Given the description of an element on the screen output the (x, y) to click on. 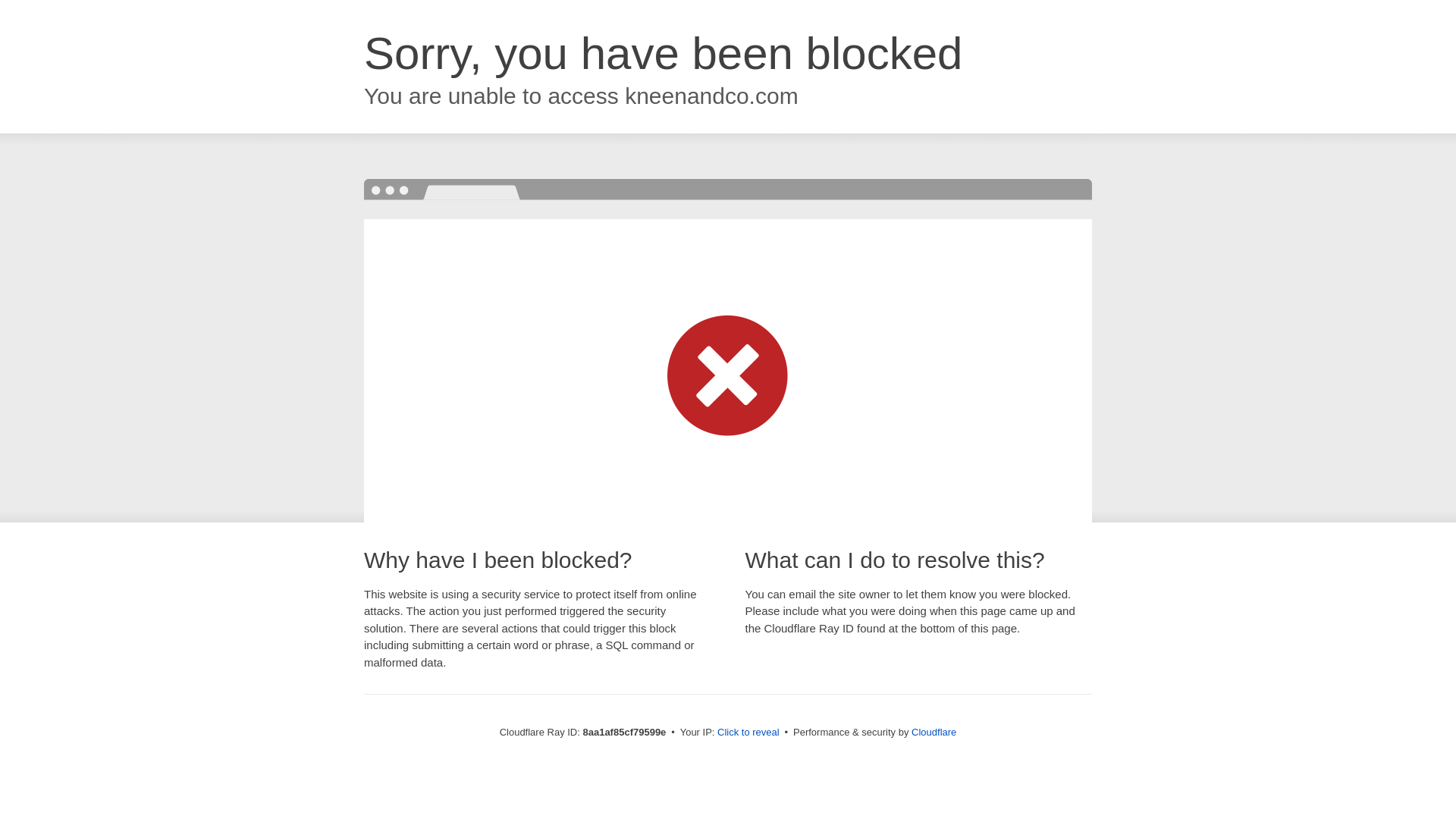
Click to reveal (747, 732)
Cloudflare (933, 731)
